Given the description of an element on the screen output the (x, y) to click on. 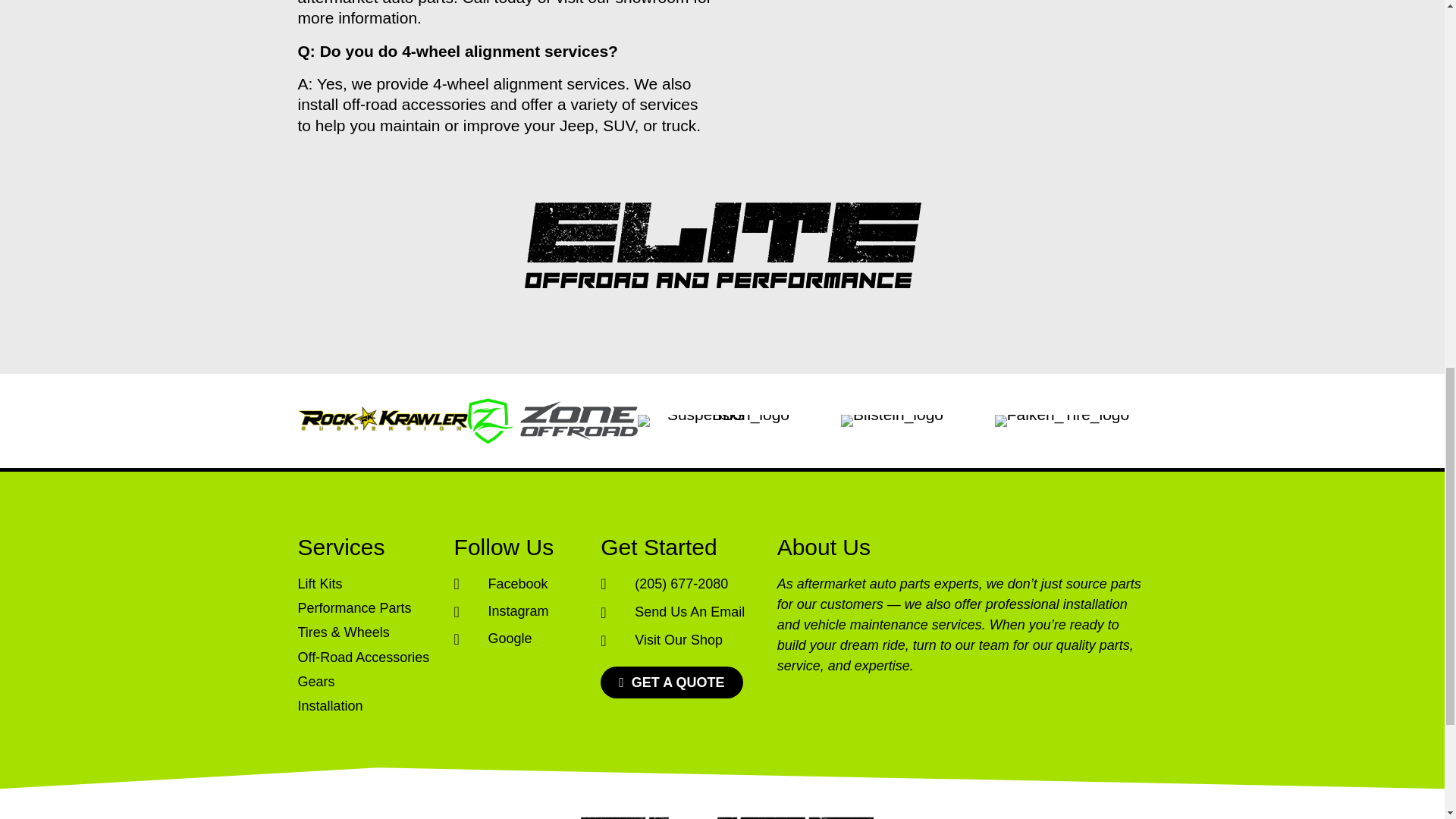
Performance Parts (367, 608)
Send Us An Email (680, 611)
Facebook (520, 584)
Instagram (520, 611)
Off-Road Accessories (367, 657)
Installation (367, 706)
Visit Our Shop (680, 639)
Gears (367, 681)
Google (520, 638)
Lift Kits (367, 584)
